Given the description of an element on the screen output the (x, y) to click on. 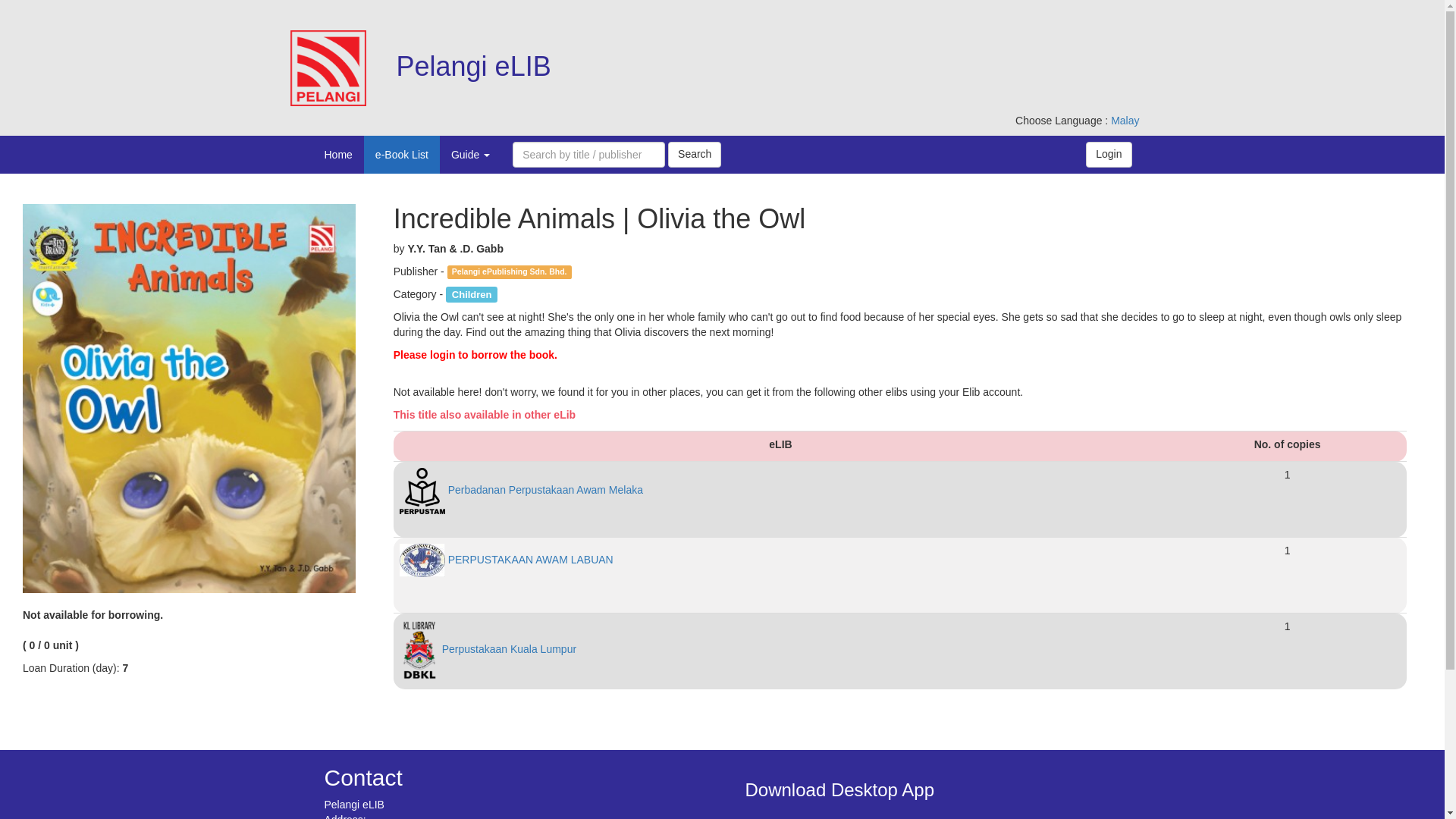
Guide (469, 154)
Perpustakaan Kuala Lumpur (487, 648)
PERPUSTAKAAN AWAM LABUAN (505, 559)
Login (1108, 154)
Malay (1124, 120)
Search (694, 154)
e-Book List (401, 154)
Perbadanan Perpustakaan Awam Melaka (520, 490)
Home (337, 154)
